Given the description of an element on the screen output the (x, y) to click on. 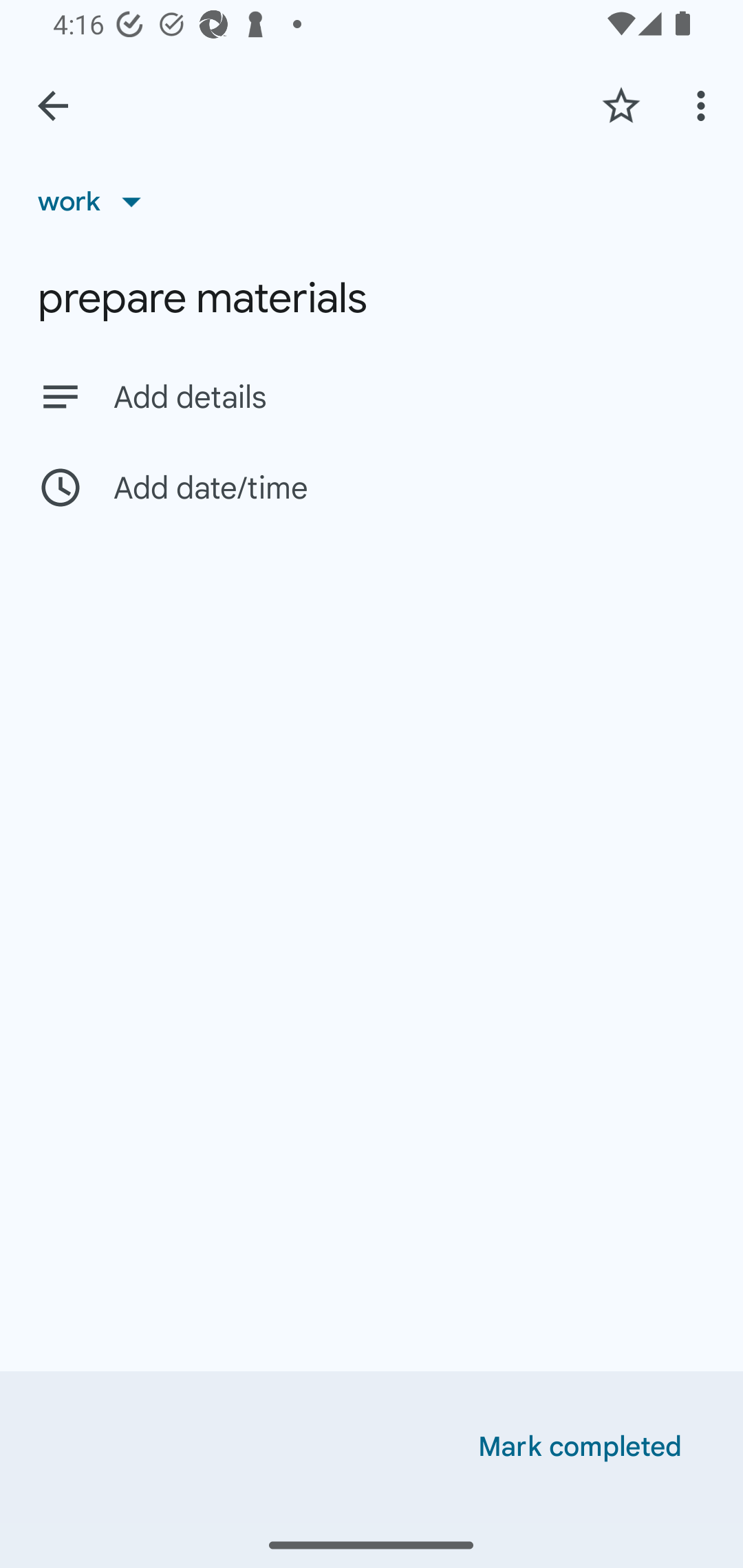
Back (53, 105)
Add star (620, 105)
More options (704, 105)
work List, work selected, 1 of 23 (95, 201)
prepare materials (371, 298)
Add details (371, 396)
Add details (409, 397)
Add date/time (371, 487)
Mark completed (580, 1446)
